Given the description of an element on the screen output the (x, y) to click on. 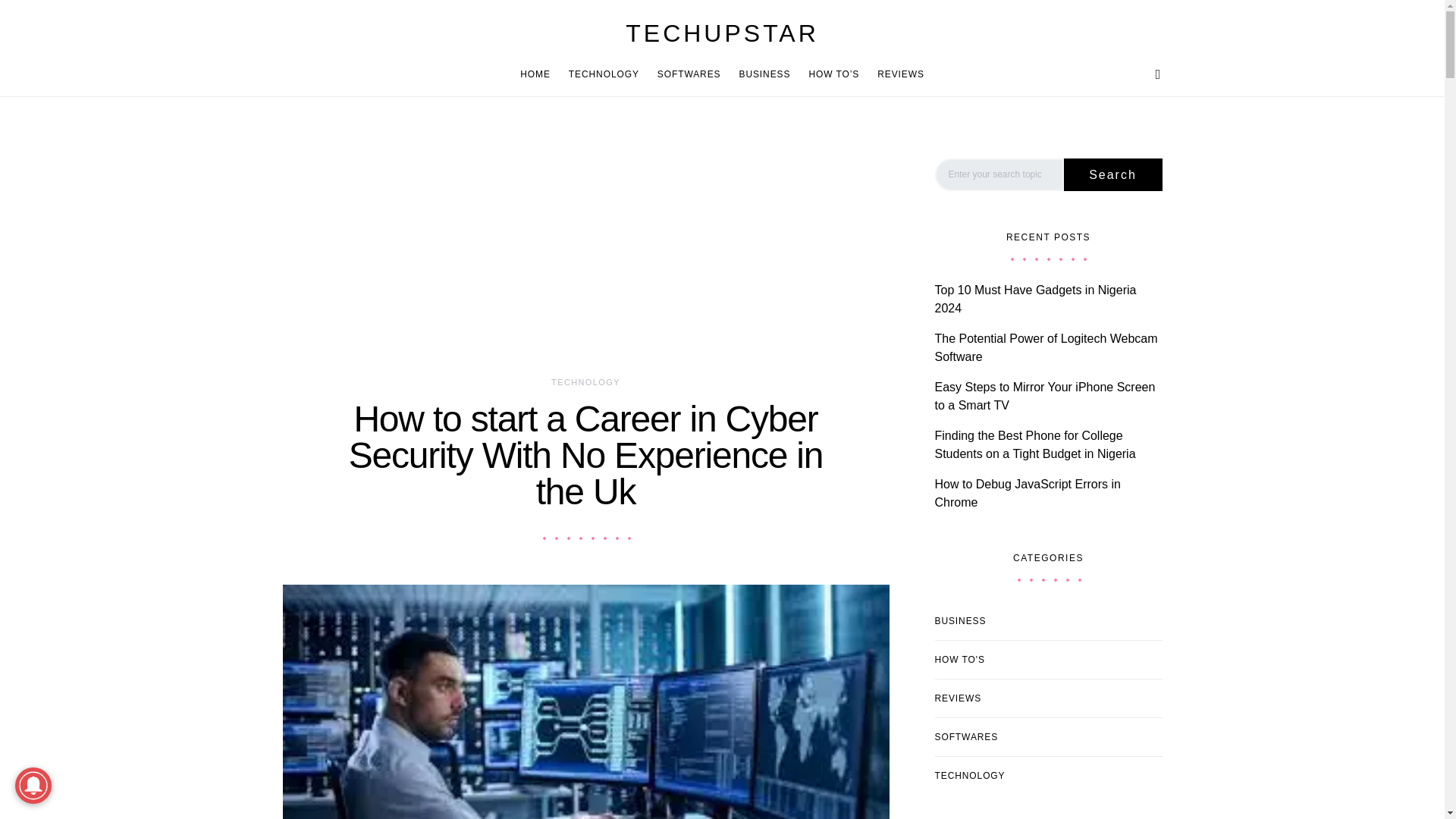
SOFTWARES (688, 74)
Advertisement (585, 257)
TECHNOLOGY (603, 74)
REVIEWS (895, 74)
TECHUPSTAR (722, 33)
BUSINESS (764, 74)
TECHNOLOGY (585, 381)
